Given the description of an element on the screen output the (x, y) to click on. 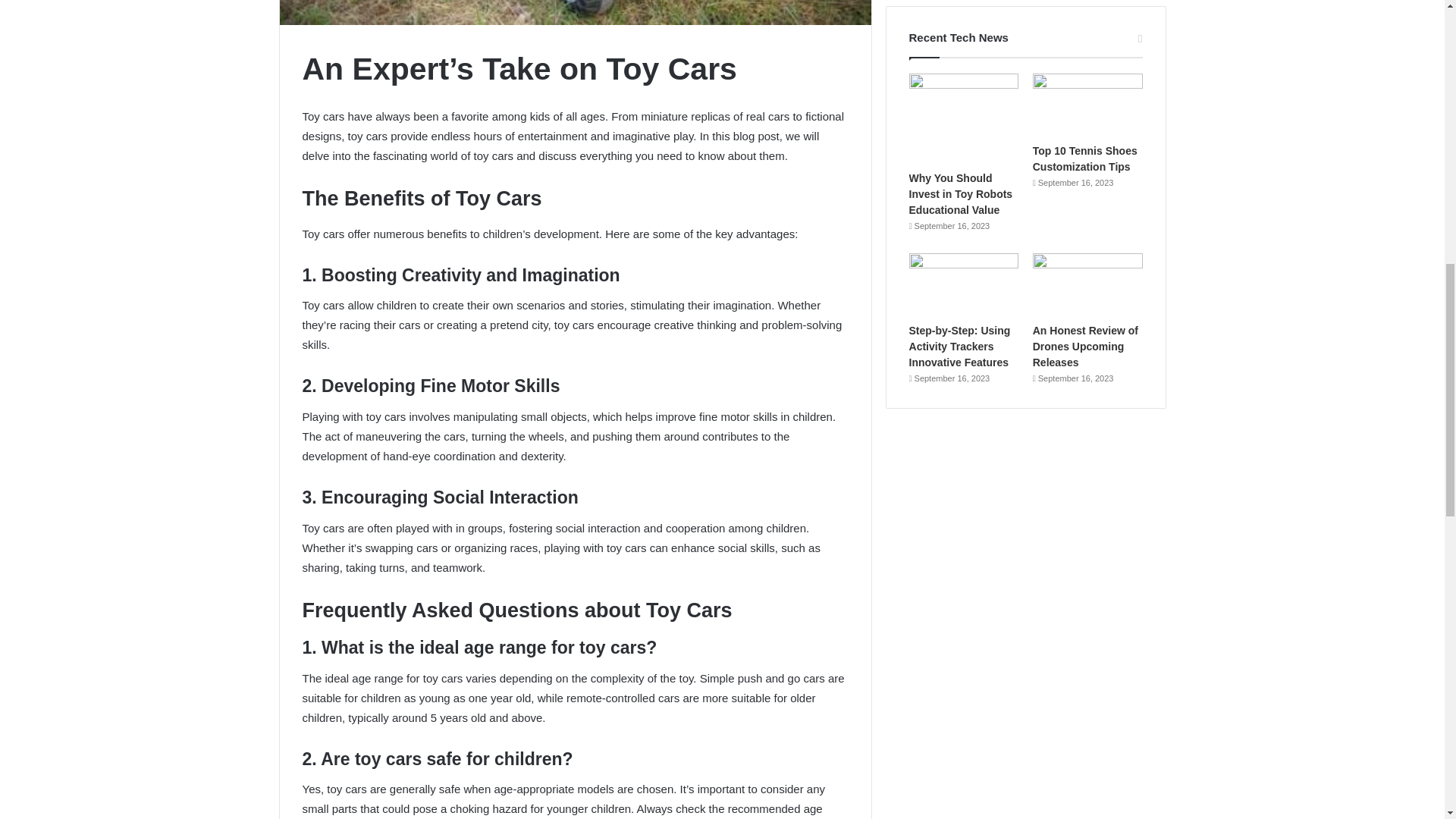
An Honest Review of Drones Upcoming Releases (1085, 346)
Top 10 Tennis Shoes Customization Tips (1084, 158)
Step-by-Step: Using Activity Trackers Innovative Features (959, 346)
Why You Should Invest in Toy Robots Educational Value (960, 193)
